Given the description of an element on the screen output the (x, y) to click on. 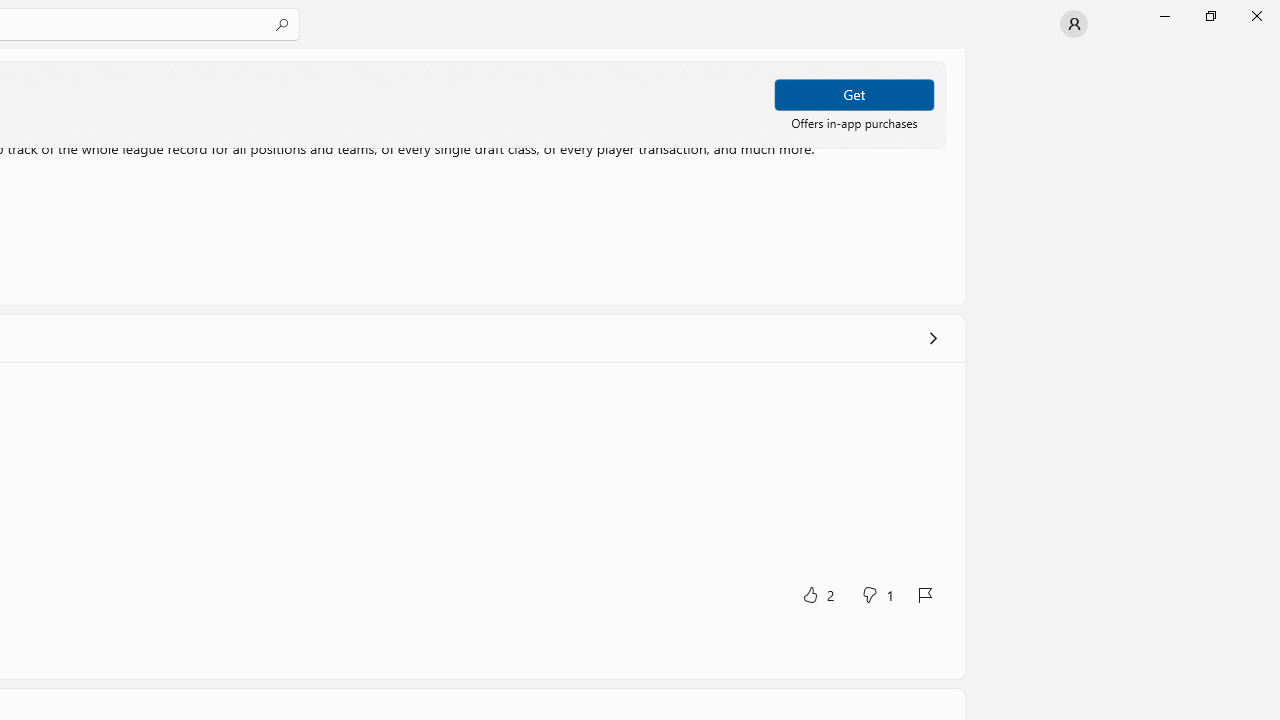
Show all ratings and reviews (932, 337)
No, this was not helpful. 1 votes. (875, 593)
Report review (924, 594)
Minimize Microsoft Store (1164, 15)
Close Microsoft Store (1256, 15)
Restore Microsoft Store (1210, 15)
User profile (1073, 24)
Yes, this was helpful. 2 votes. (816, 593)
Get (854, 94)
